Given the description of an element on the screen output the (x, y) to click on. 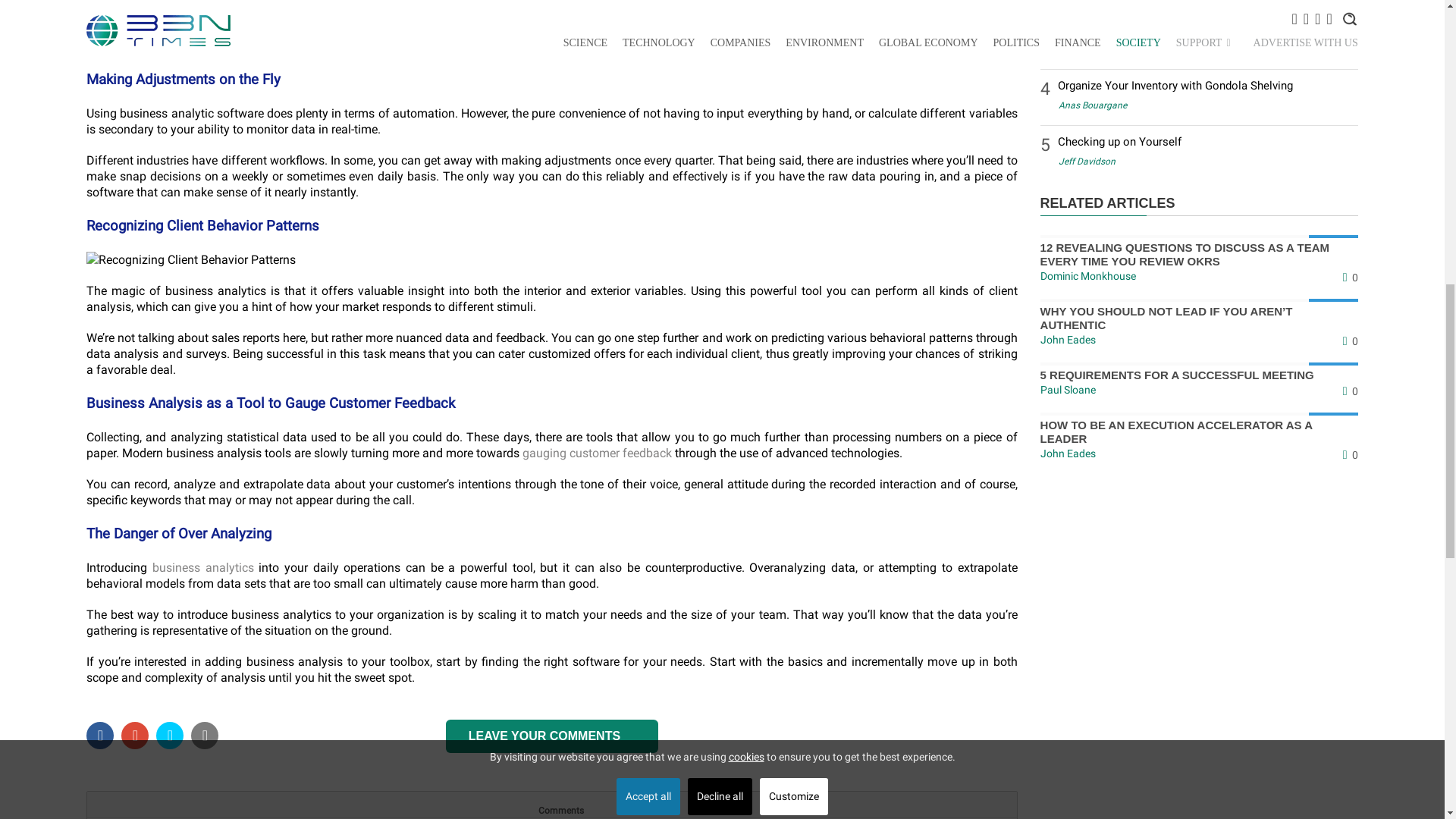
linkedin (169, 736)
facebook (99, 736)
Twitter (134, 736)
Share by Email (204, 736)
